Given the description of an element on the screen output the (x, y) to click on. 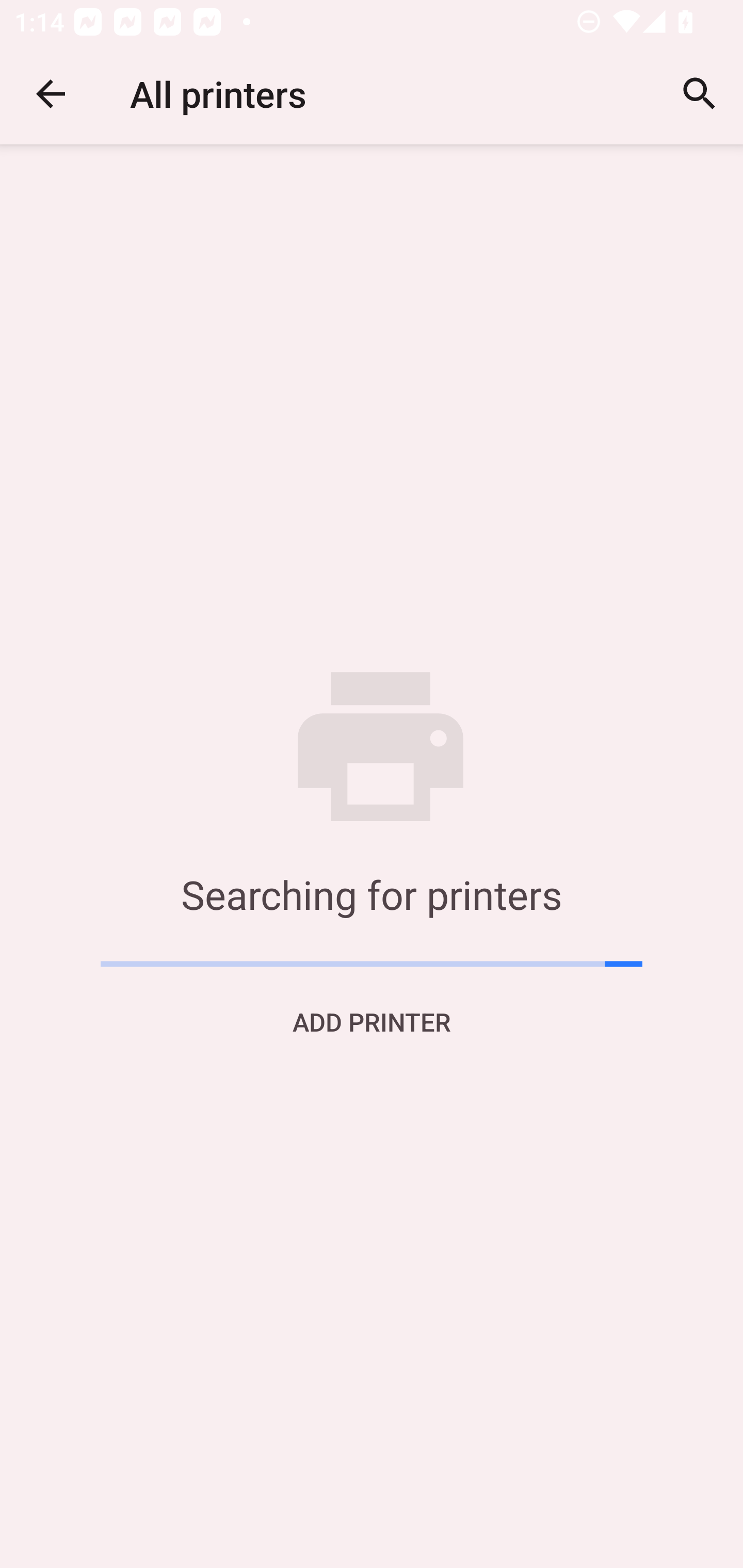
Navigate up (50, 93)
Search (699, 93)
ADD PRINTER (371, 1021)
